Given the description of an element on the screen output the (x, y) to click on. 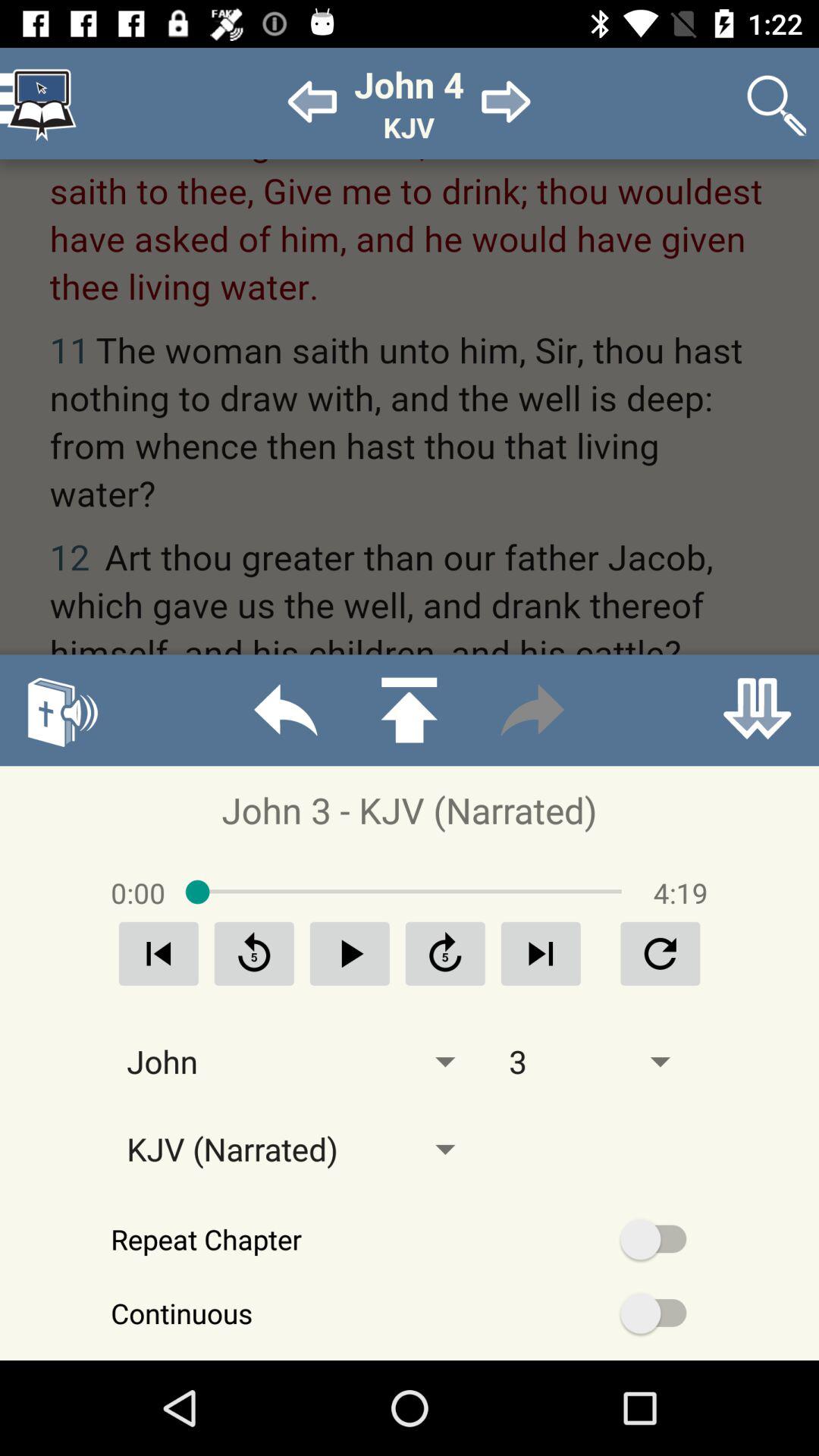
previous track (158, 953)
